Given the description of an element on the screen output the (x, y) to click on. 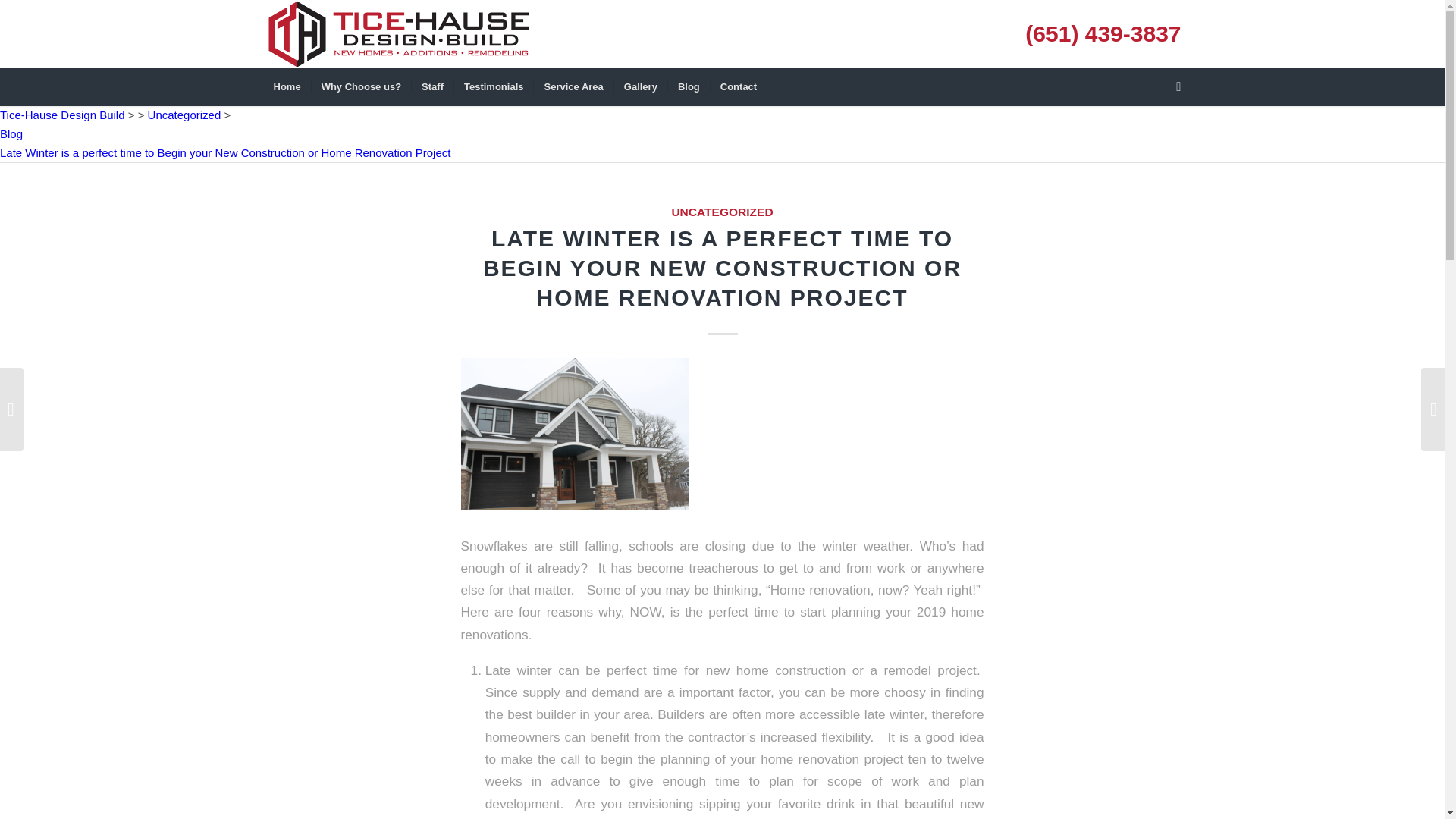
Why Choose us? (360, 86)
Gallery (639, 86)
Uncategorized (184, 114)
Home (287, 86)
Staff (431, 86)
Contact (738, 86)
Tice-Hause Design Build (62, 114)
Go to the Uncategorized category archives. (184, 114)
Service Area (572, 86)
Blog (688, 86)
UNCATEGORIZED (722, 211)
Go to Tice-Hause Design Build. (62, 114)
Testimonials (493, 86)
